Given the description of an element on the screen output the (x, y) to click on. 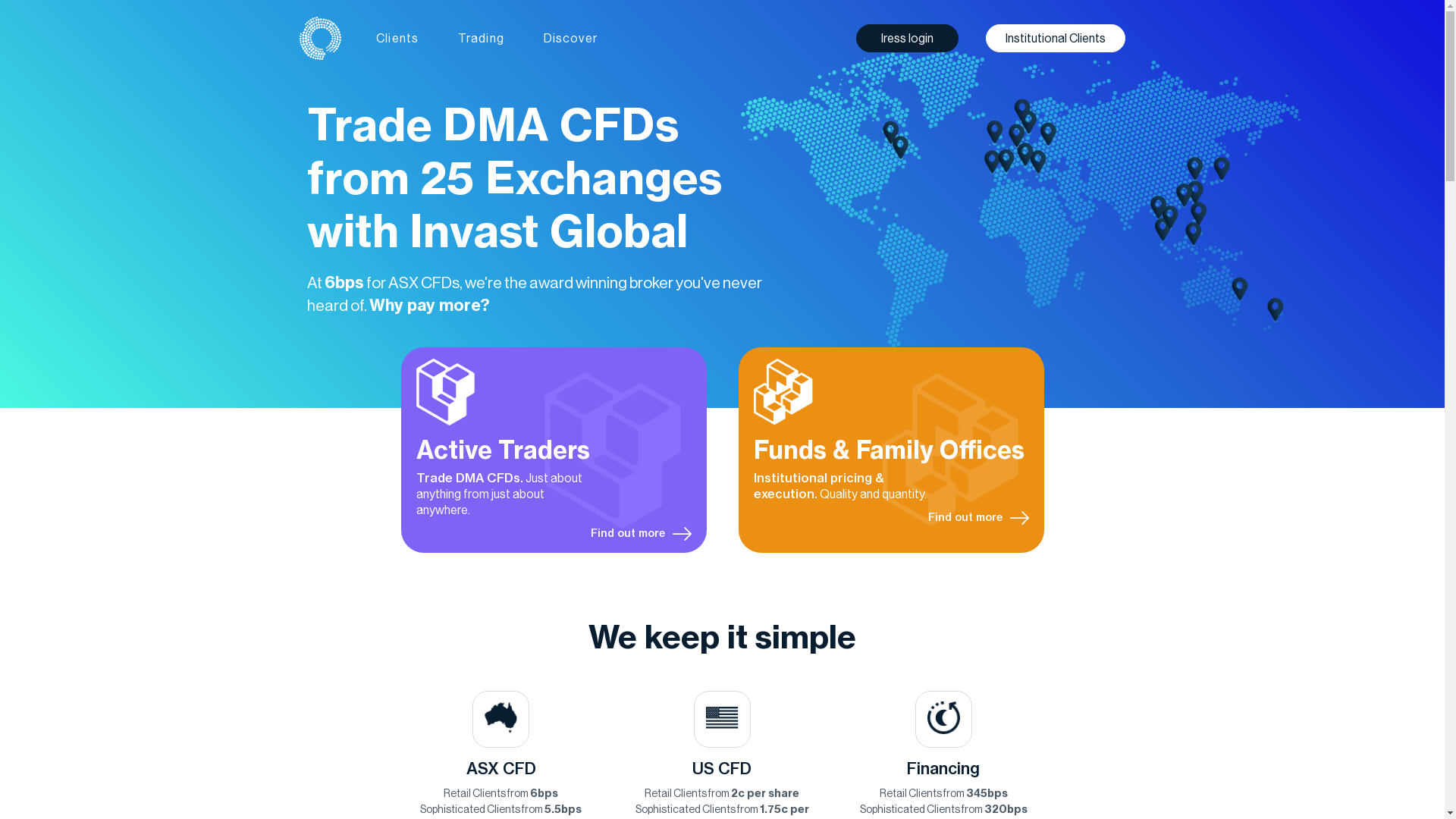
Clients Element type: text (397, 38)
US CFD Element type: text (721, 768)
ASX CFD Element type: text (501, 768)
Discover Element type: text (570, 38)
Trading Element type: text (481, 38)
Institutional Clients Element type: text (1055, 38)
Financing Element type: text (942, 768)
Iress login Element type: text (907, 38)
